Given the description of an element on the screen output the (x, y) to click on. 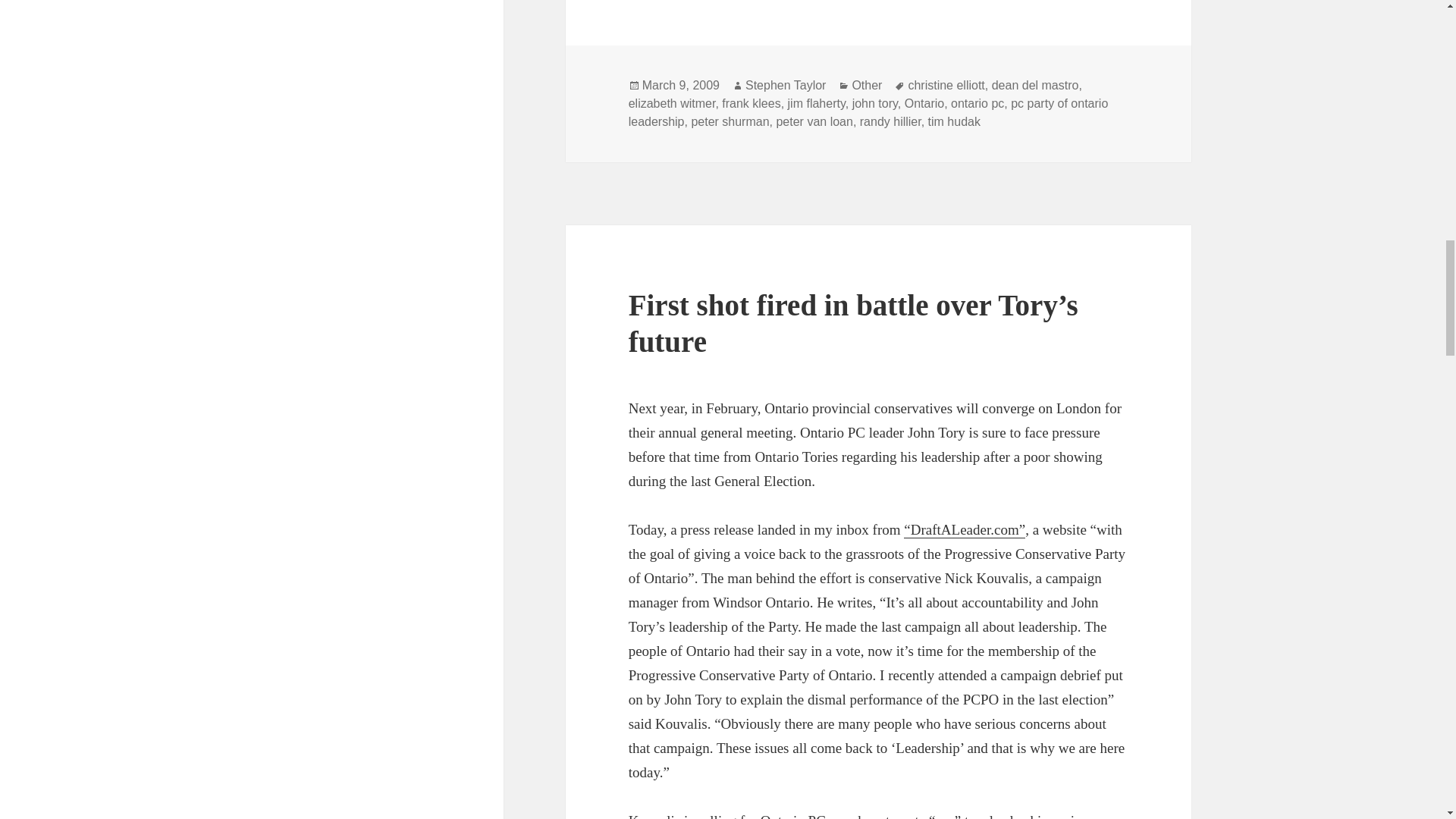
christine elliott (945, 85)
tim hudak (953, 121)
Other (866, 85)
pc party of ontario leadership (868, 112)
Stephen Taylor (785, 85)
john tory (874, 103)
Ontario (923, 103)
March 9, 2009 (680, 85)
randy hillier (890, 121)
jim flaherty (816, 103)
